Given the description of an element on the screen output the (x, y) to click on. 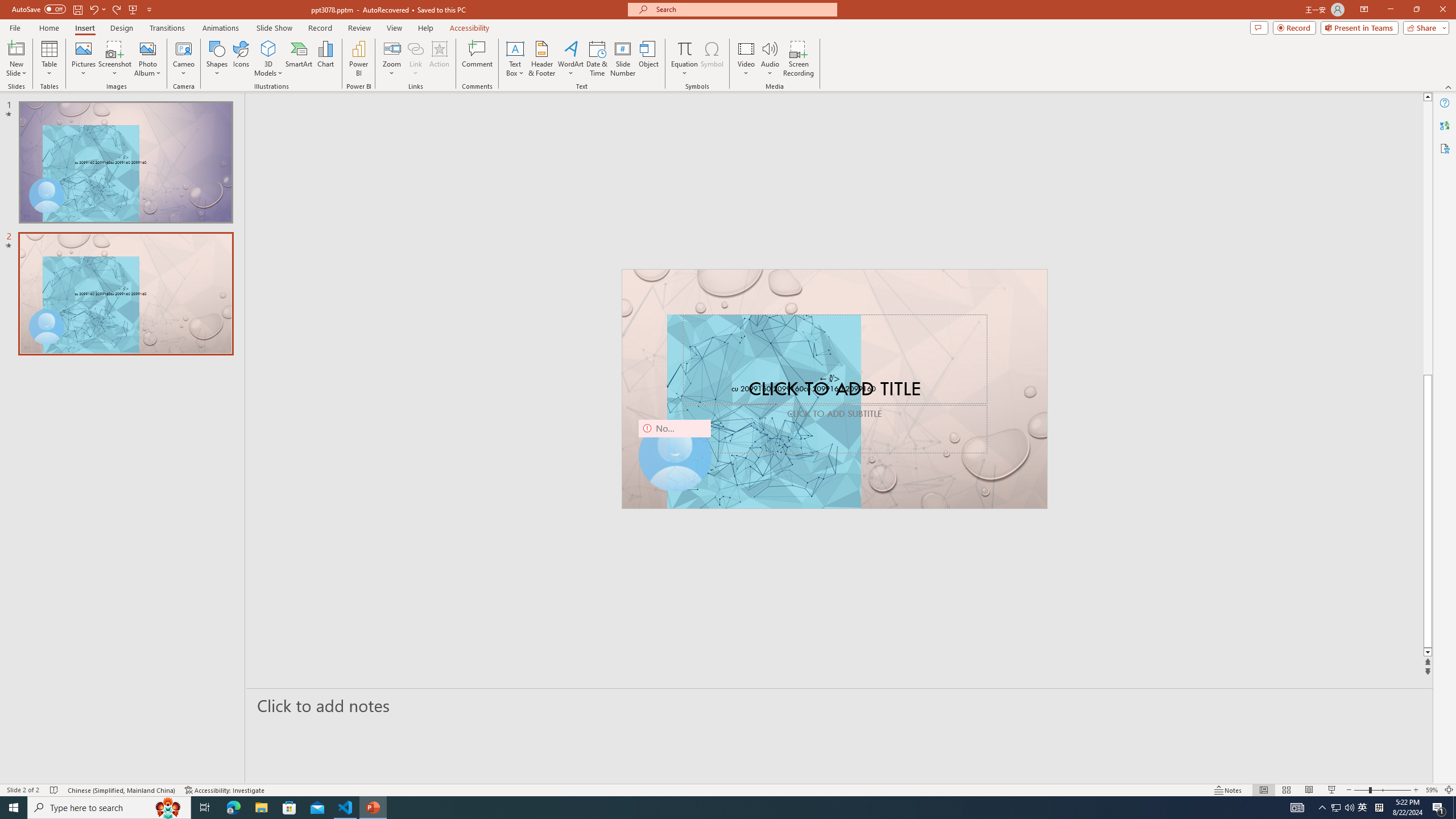
Video (745, 58)
Draw Horizontal Text Box (515, 48)
TextBox 61 (833, 389)
